Given the description of an element on the screen output the (x, y) to click on. 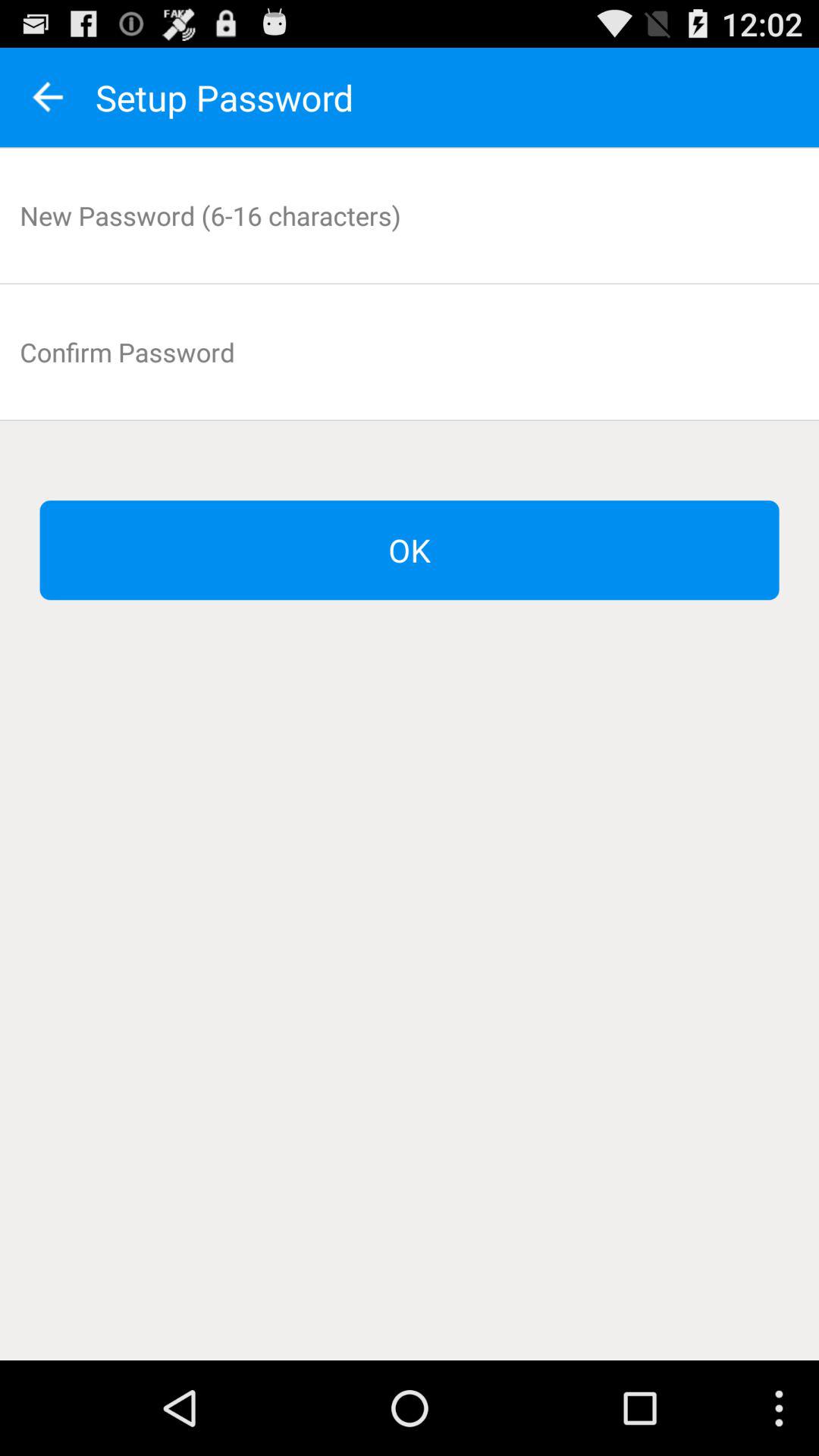
press the ok at the center (409, 550)
